Given the description of an element on the screen output the (x, y) to click on. 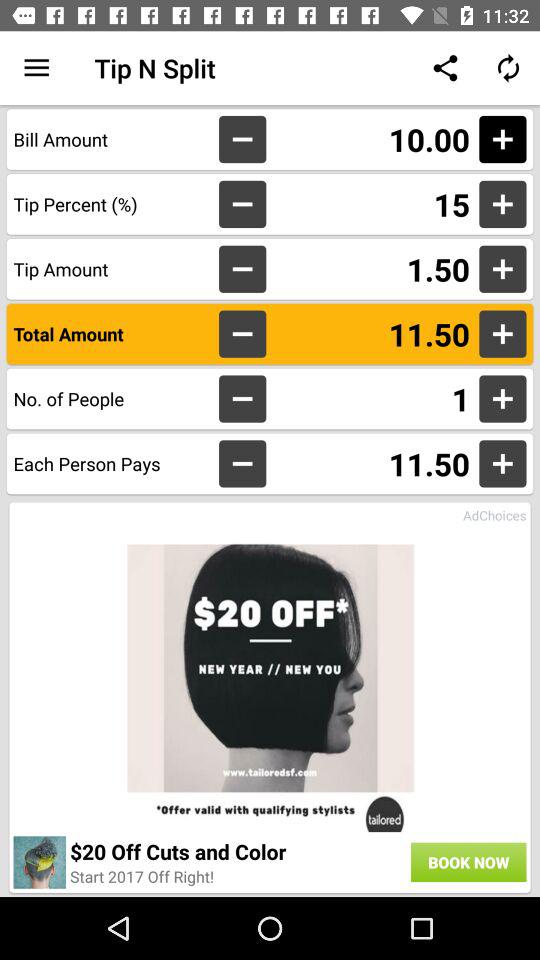
tap the icon below the 11.00 icon (372, 204)
